Given the description of an element on the screen output the (x, y) to click on. 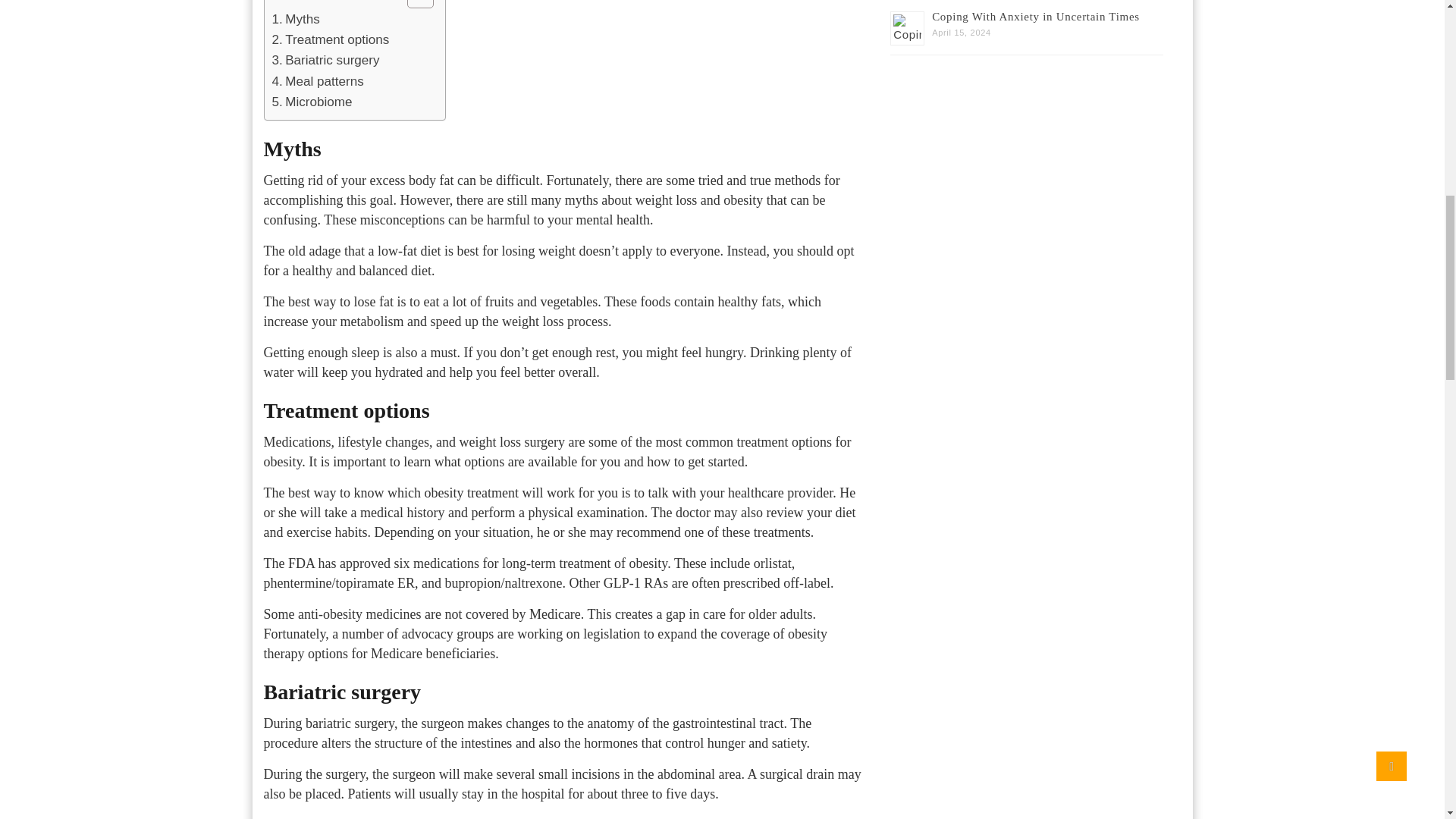
Bariatric surgery (324, 59)
Myths (294, 19)
Bariatric surgery (324, 59)
Meal patterns (316, 81)
Treatment options (329, 39)
Treatment options (329, 39)
Microbiome (311, 101)
Myths (294, 19)
Meal patterns (316, 81)
Microbiome (311, 101)
